Given the description of an element on the screen output the (x, y) to click on. 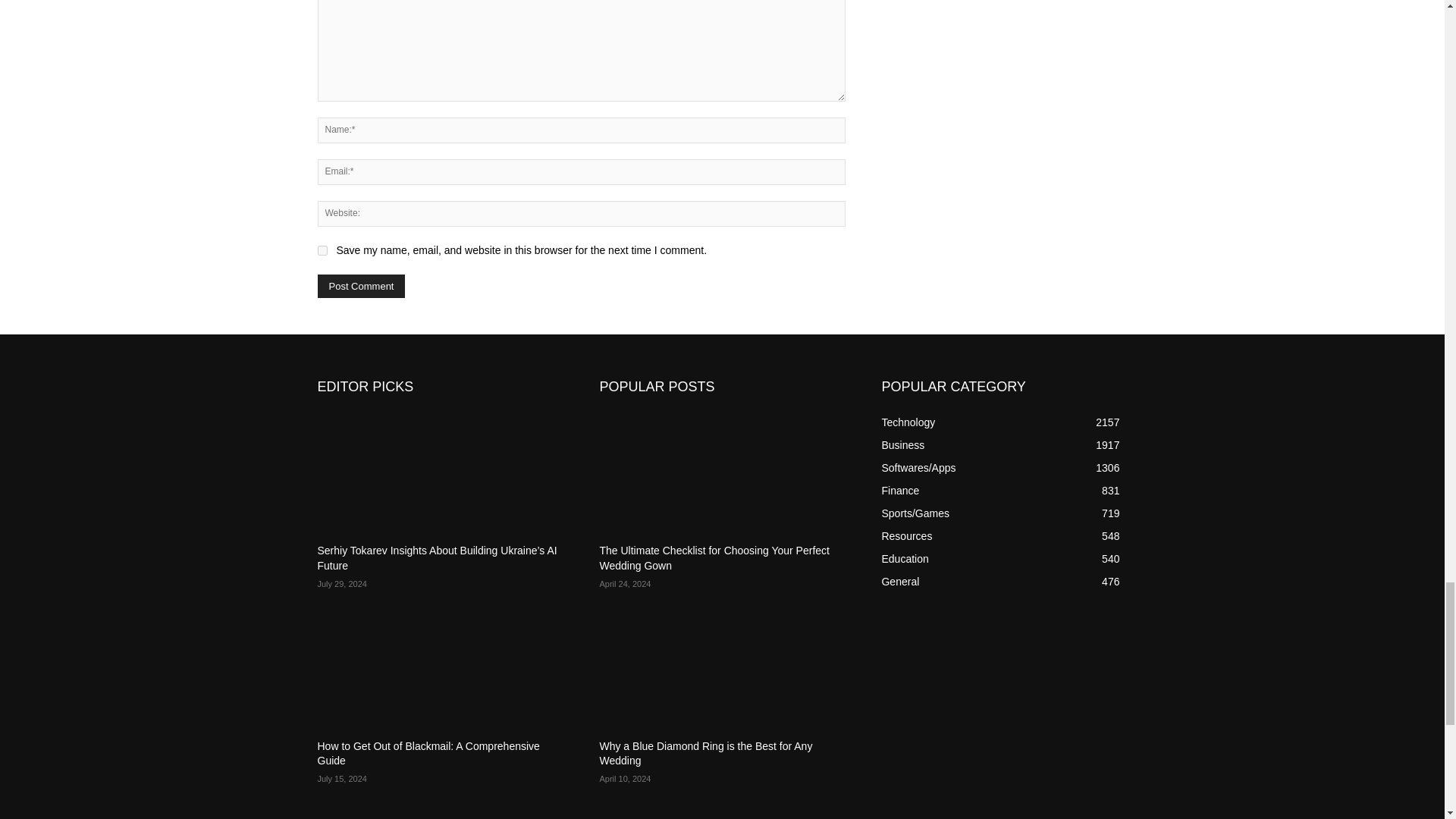
yes (321, 250)
Post Comment (360, 286)
